Given the description of an element on the screen output the (x, y) to click on. 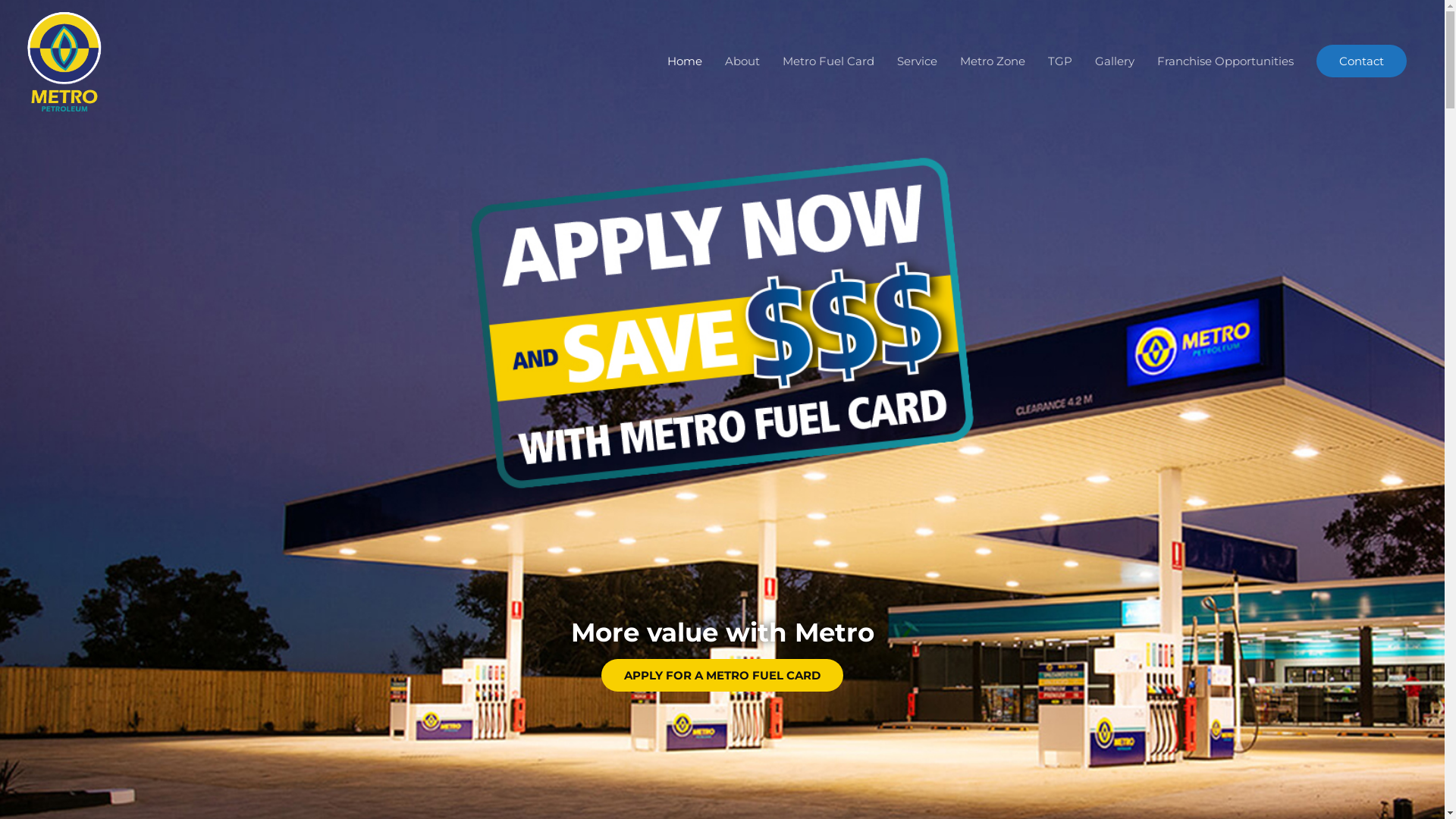
Metro Fuel Card Element type: text (828, 61)
Home Element type: text (684, 61)
Franchise Opportunities Element type: text (1225, 61)
Metro Zone Element type: text (992, 61)
Gallery Element type: text (1114, 61)
About Element type: text (742, 61)
TGP Element type: text (1059, 61)
APPLY FOR A METRO FUEL CARD Element type: text (722, 674)
Contact Element type: text (1361, 60)
Service Element type: text (916, 61)
